Given the description of an element on the screen output the (x, y) to click on. 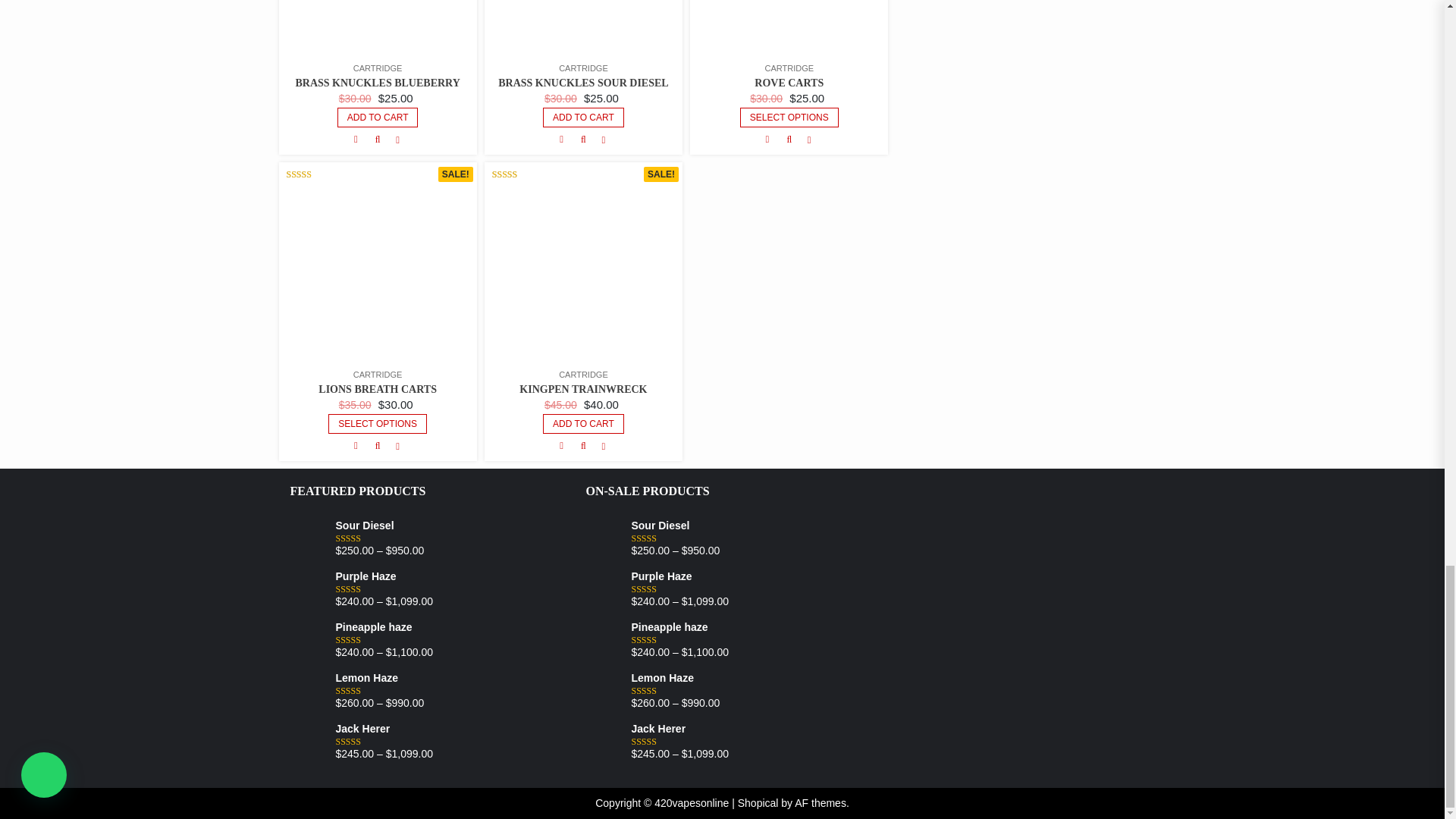
Quick View (787, 139)
Quick View (582, 139)
Quick View (377, 139)
